Given the description of an element on the screen output the (x, y) to click on. 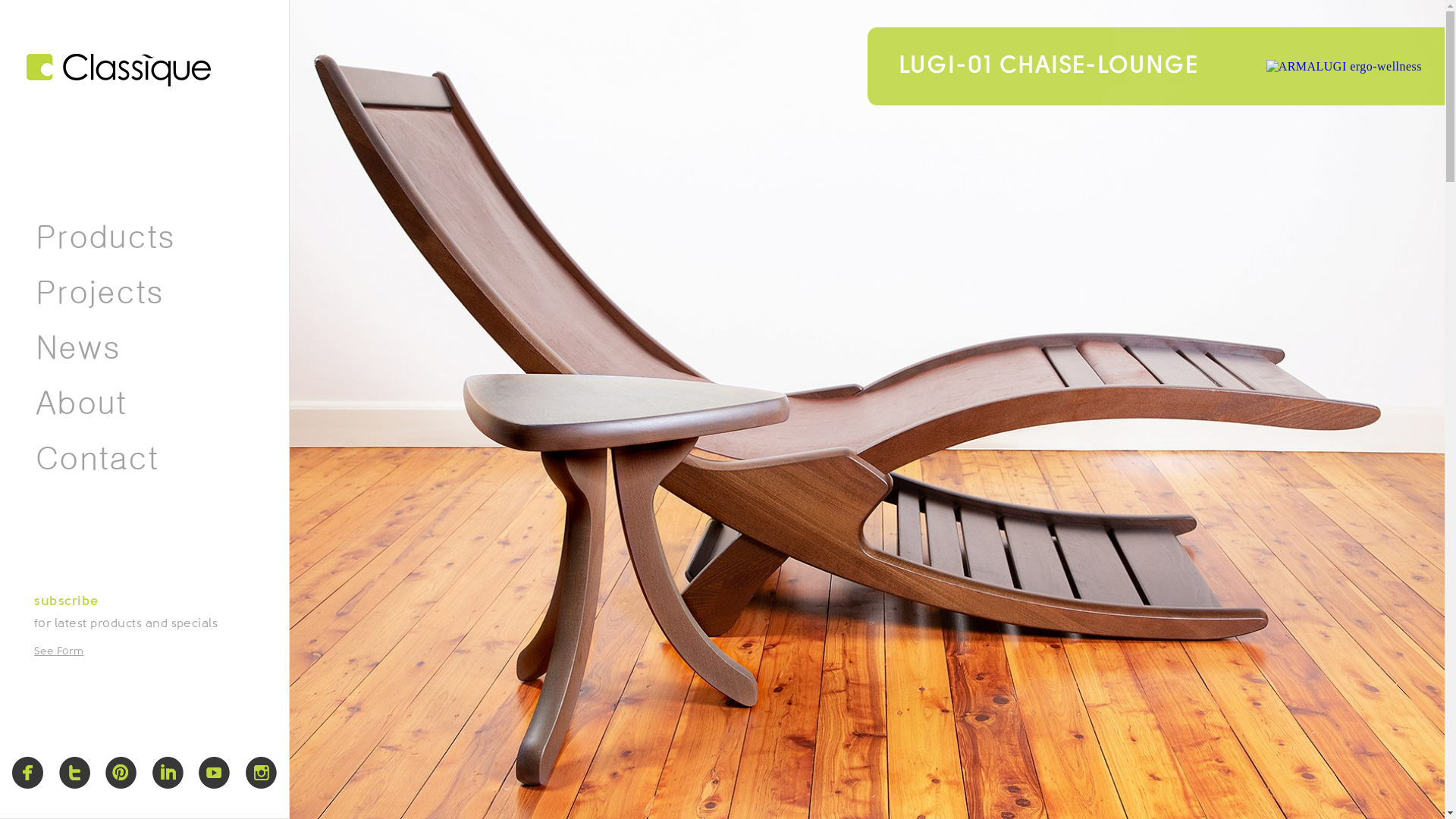
About Element type: text (81, 402)
2 Element type: text (824, 792)
3 Element type: text (909, 792)
OHIO CHAIR Element type: text (970, 66)
Projects Element type: text (99, 292)
Contact Element type: text (97, 458)
News Element type: text (78, 347)
1 Element type: text (739, 792)
4 Element type: text (994, 792)
Products Element type: text (158, 236)
See Form Element type: text (58, 651)
